Given the description of an element on the screen output the (x, y) to click on. 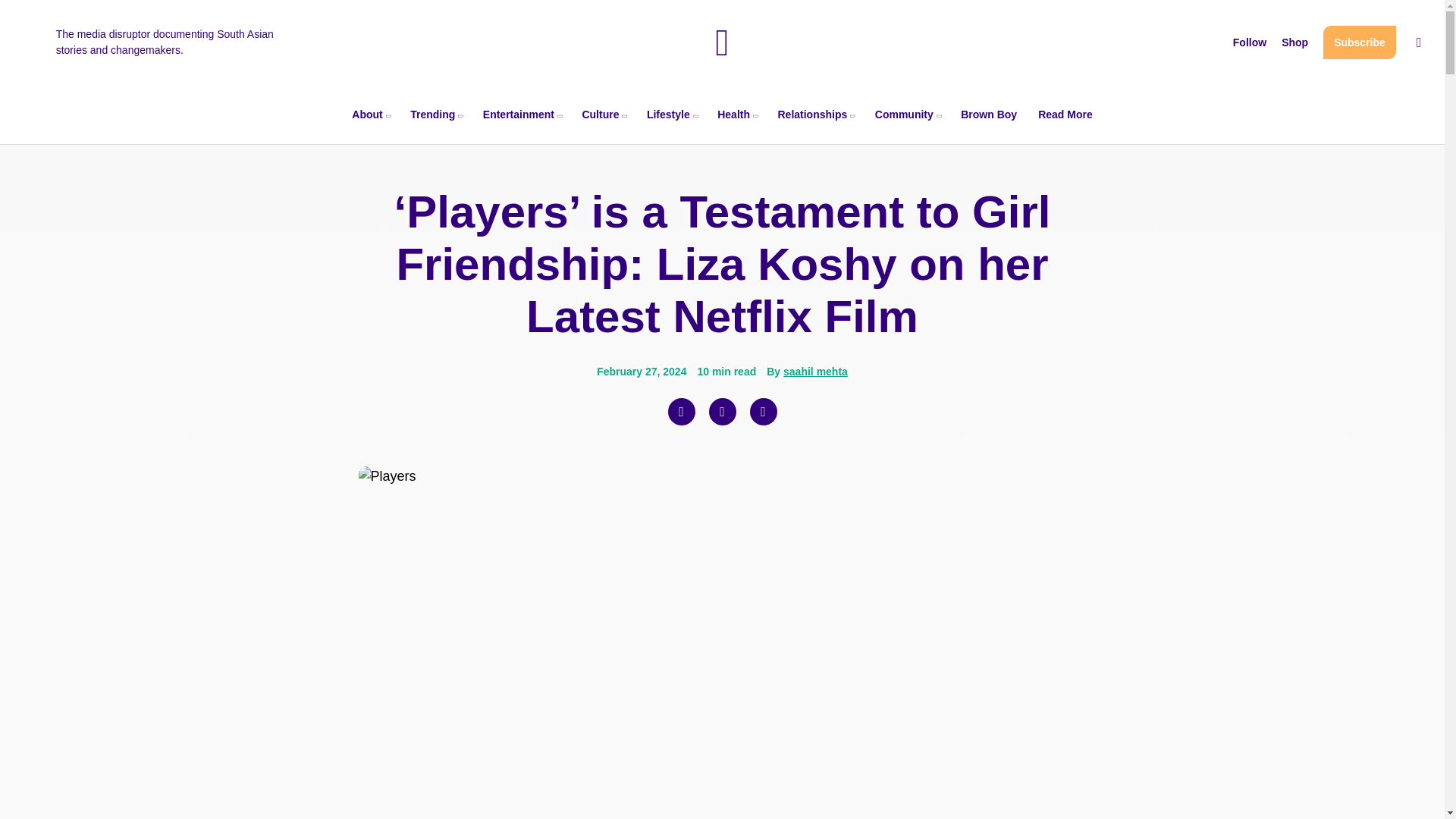
Share via Email (762, 411)
Share on FaceBook (680, 411)
Share on Twitter (721, 411)
